Given the description of an element on the screen output the (x, y) to click on. 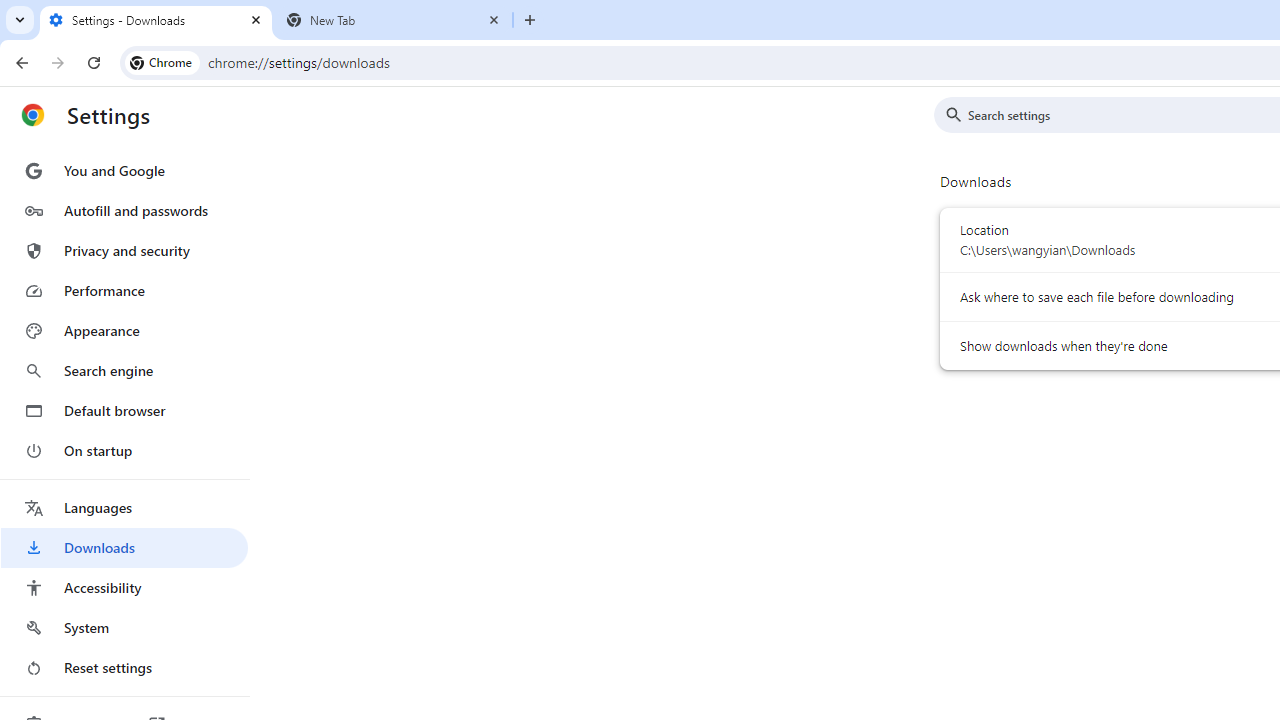
Performance (124, 290)
Accessibility (124, 587)
Chrome (162, 62)
Back (19, 62)
Autofill and passwords (124, 210)
Reload (93, 62)
Default browser (124, 410)
